Given the description of an element on the screen output the (x, y) to click on. 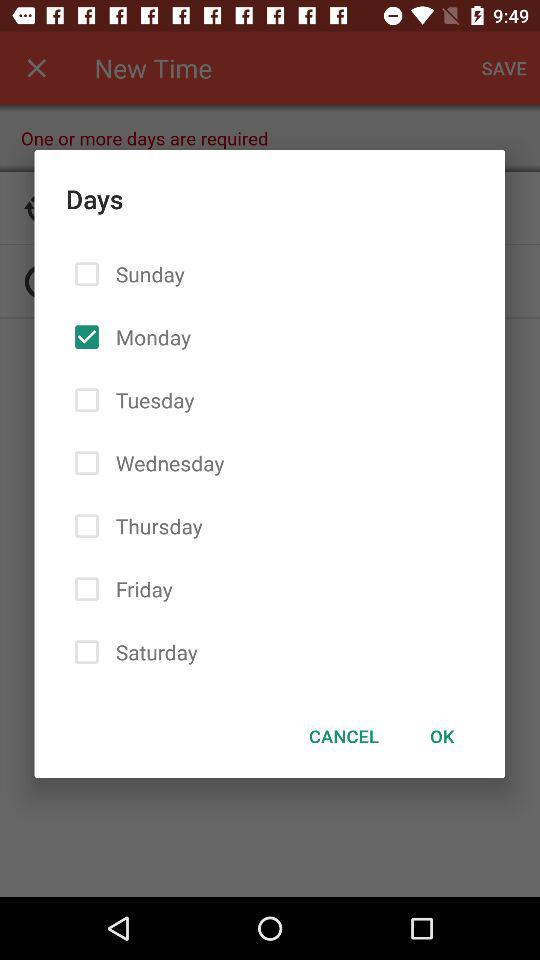
turn on icon next to the cancel item (441, 735)
